Given the description of an element on the screen output the (x, y) to click on. 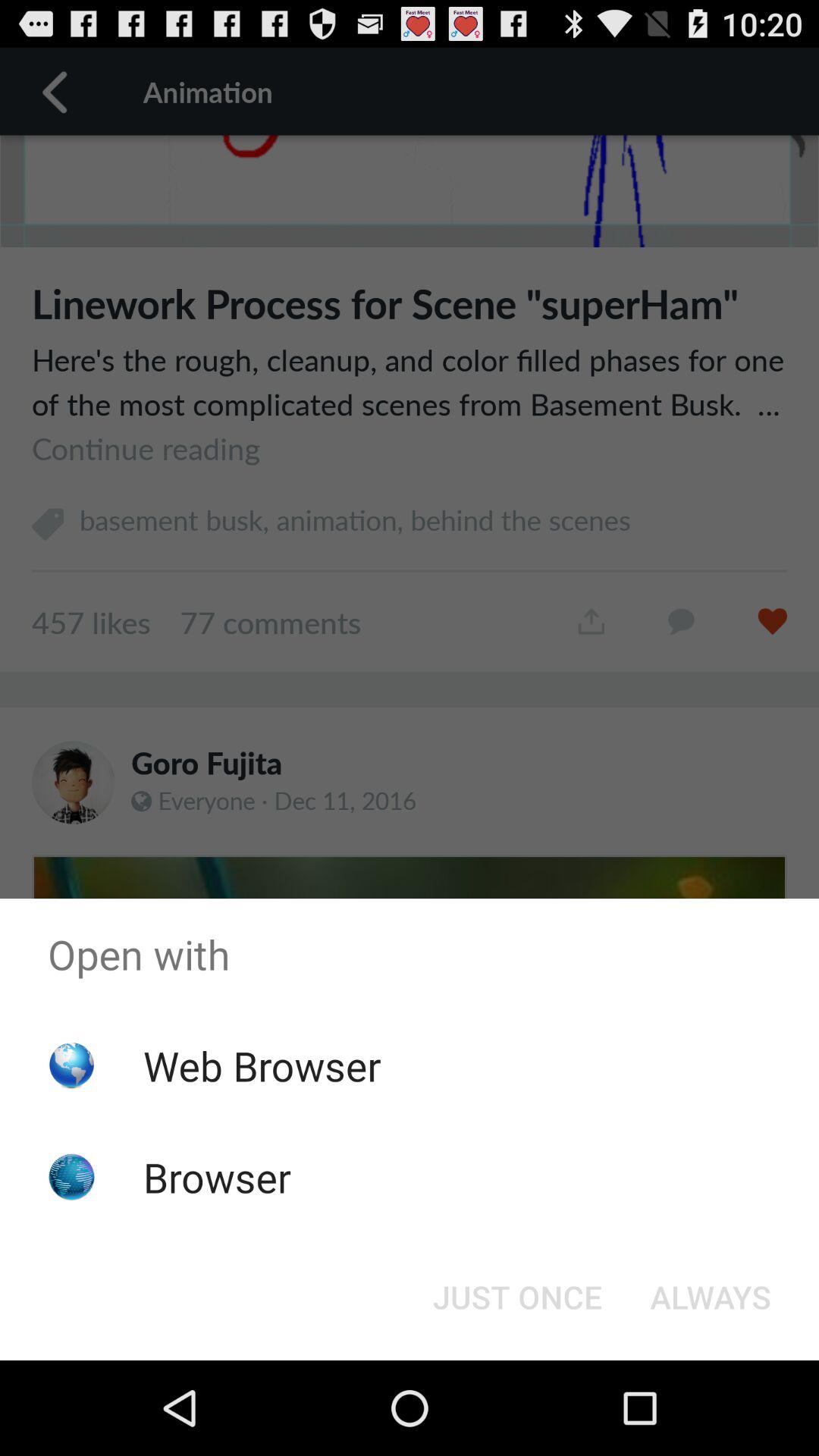
launch the just once at the bottom (517, 1296)
